Given the description of an element on the screen output the (x, y) to click on. 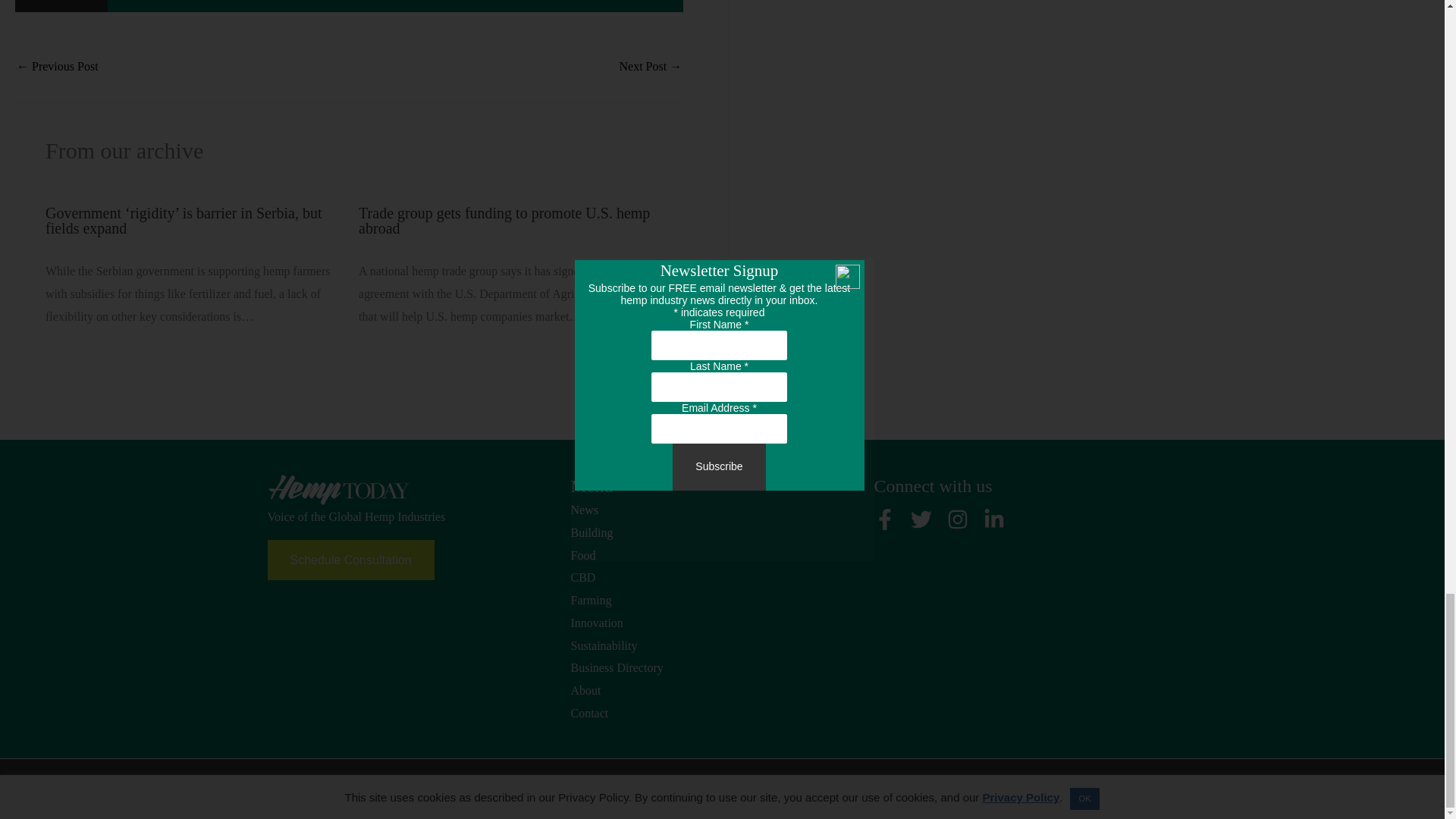
Subscribe (60, 6)
